Given the description of an element on the screen output the (x, y) to click on. 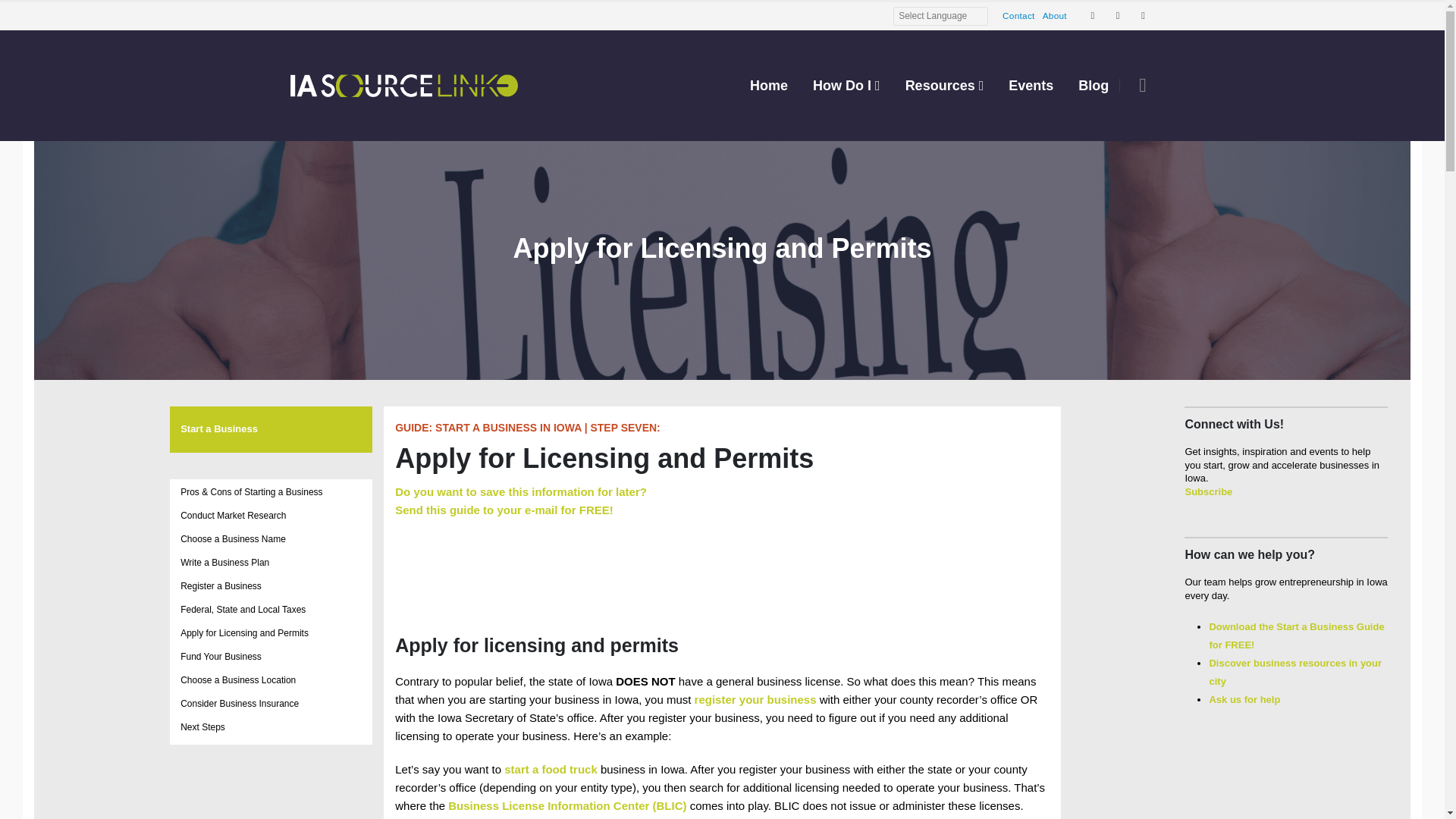
Facebook (1092, 15)
LinkedIn (1142, 15)
How Do I (846, 85)
IASourceLink - Where business begins in Iowa (402, 85)
Resources (944, 85)
About (1054, 15)
Youtube (1117, 15)
Contact (1018, 15)
